Given the description of an element on the screen output the (x, y) to click on. 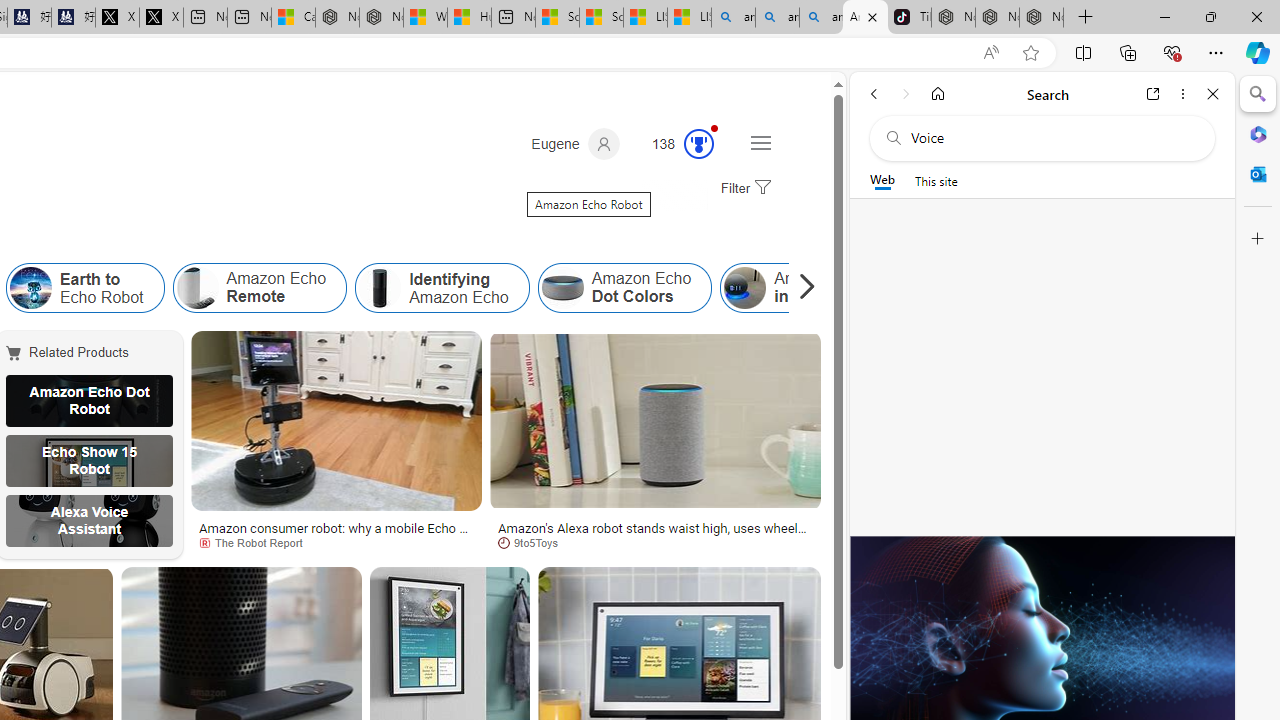
Search the web (1051, 137)
Amazon consumer robot: why a mobile Echo Show makes sense (336, 534)
Identifying Amazon Echo (379, 287)
Amazon Echo Dot Robot (89, 400)
This site scope (936, 180)
Earth to Echo Robot (84, 287)
Scroll right (801, 287)
TikTok (909, 17)
Forward (906, 93)
